Given the description of an element on the screen output the (x, y) to click on. 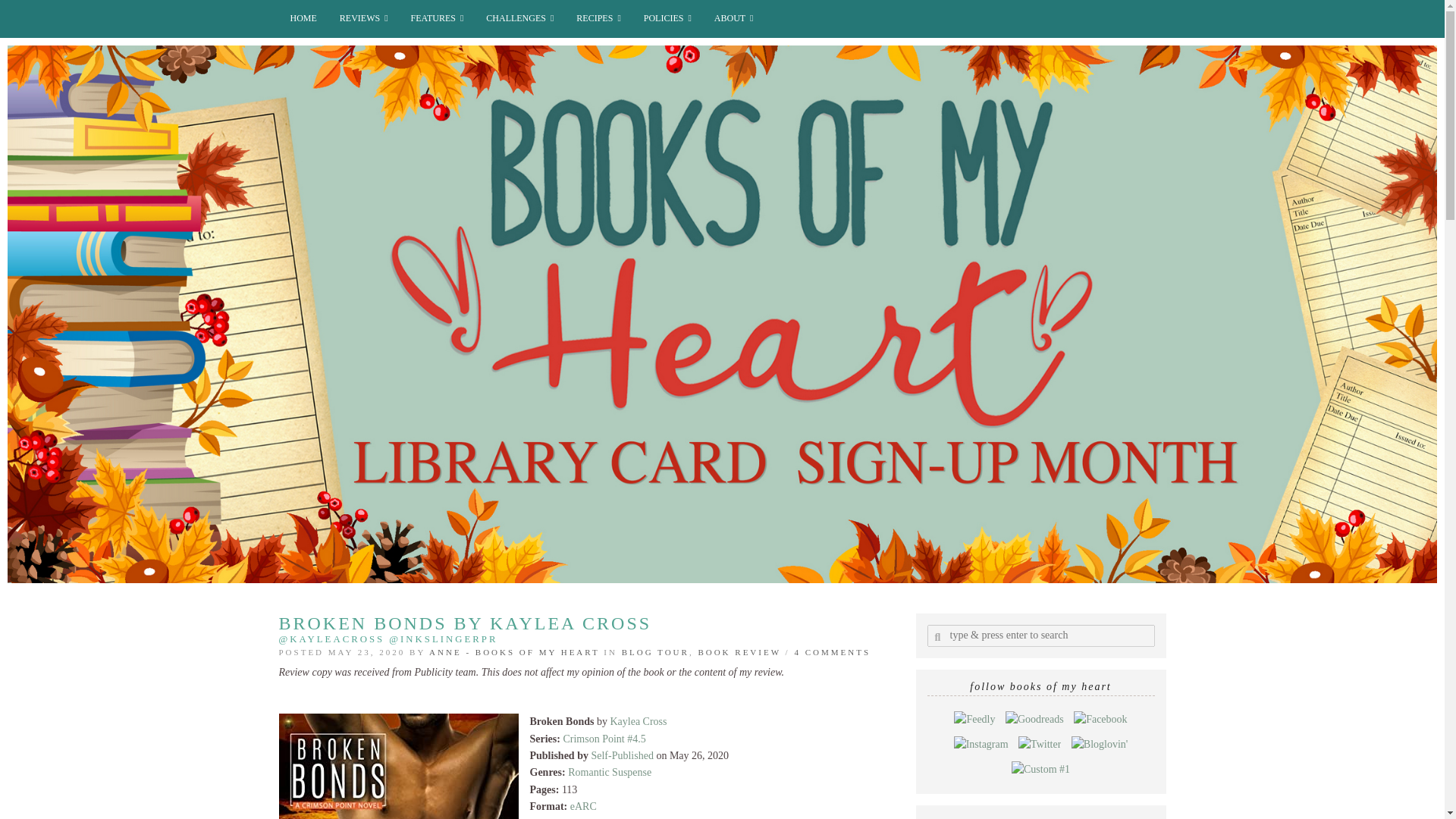
RECIPES   (597, 18)
REVIEWS   (363, 18)
POLICIES   (667, 18)
ANNE - BOOKS OF MY HEART (513, 651)
BLOG TOUR (654, 651)
ABOUT   (734, 18)
HOME (304, 18)
CHALLENGES   (519, 18)
View all posts in Book Review (738, 651)
View all posts in Blog Tour (654, 651)
